Given the description of an element on the screen output the (x, y) to click on. 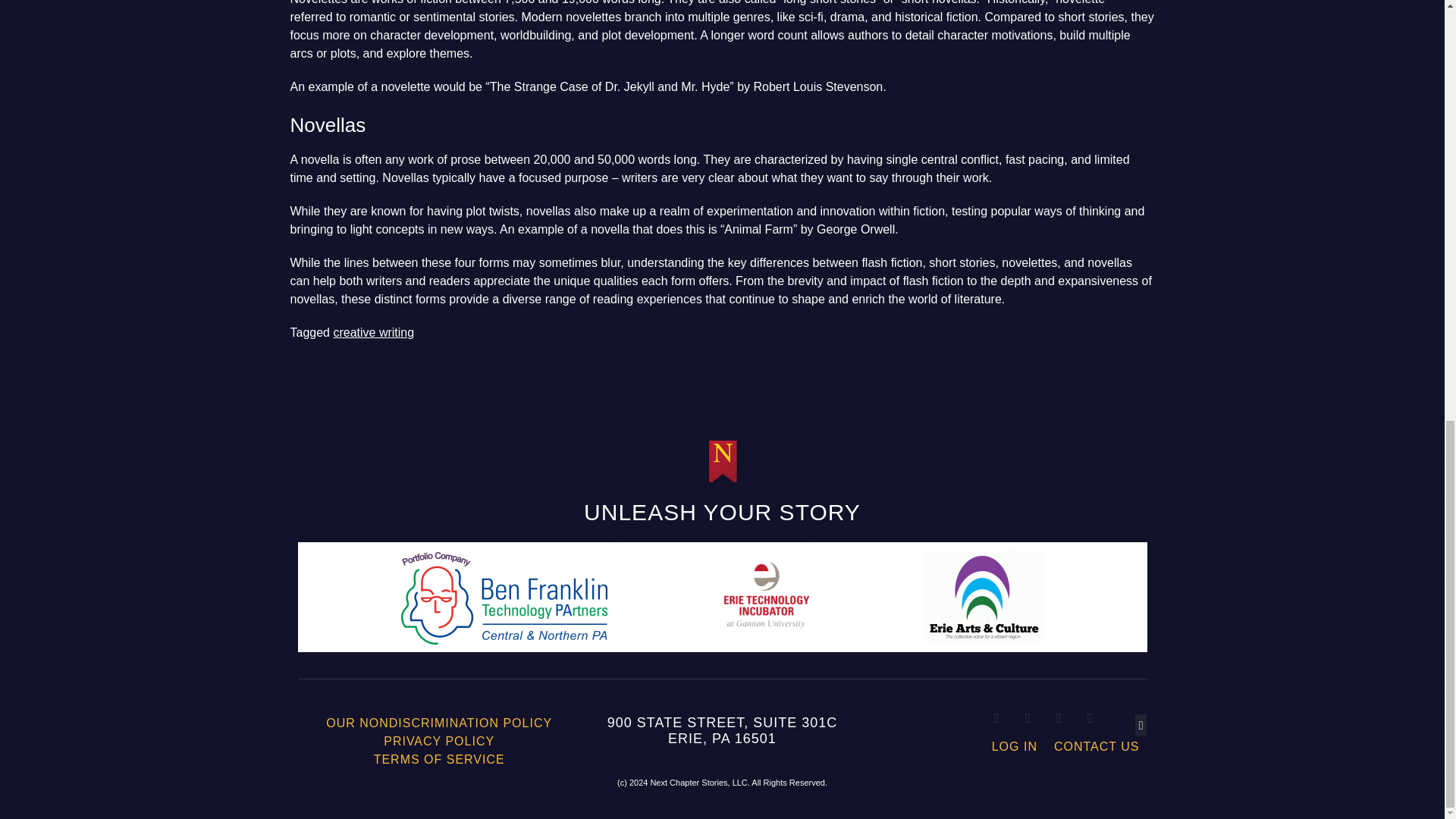
erietechincubator (766, 596)
creative writing (373, 332)
TERMS OF SERVICE (438, 760)
CONTACT US (1097, 746)
OUR NONDISCRIMINATION POLICY (439, 723)
LOG IN (1013, 746)
PRIVACY POLICY (438, 741)
